Given the description of an element on the screen output the (x, y) to click on. 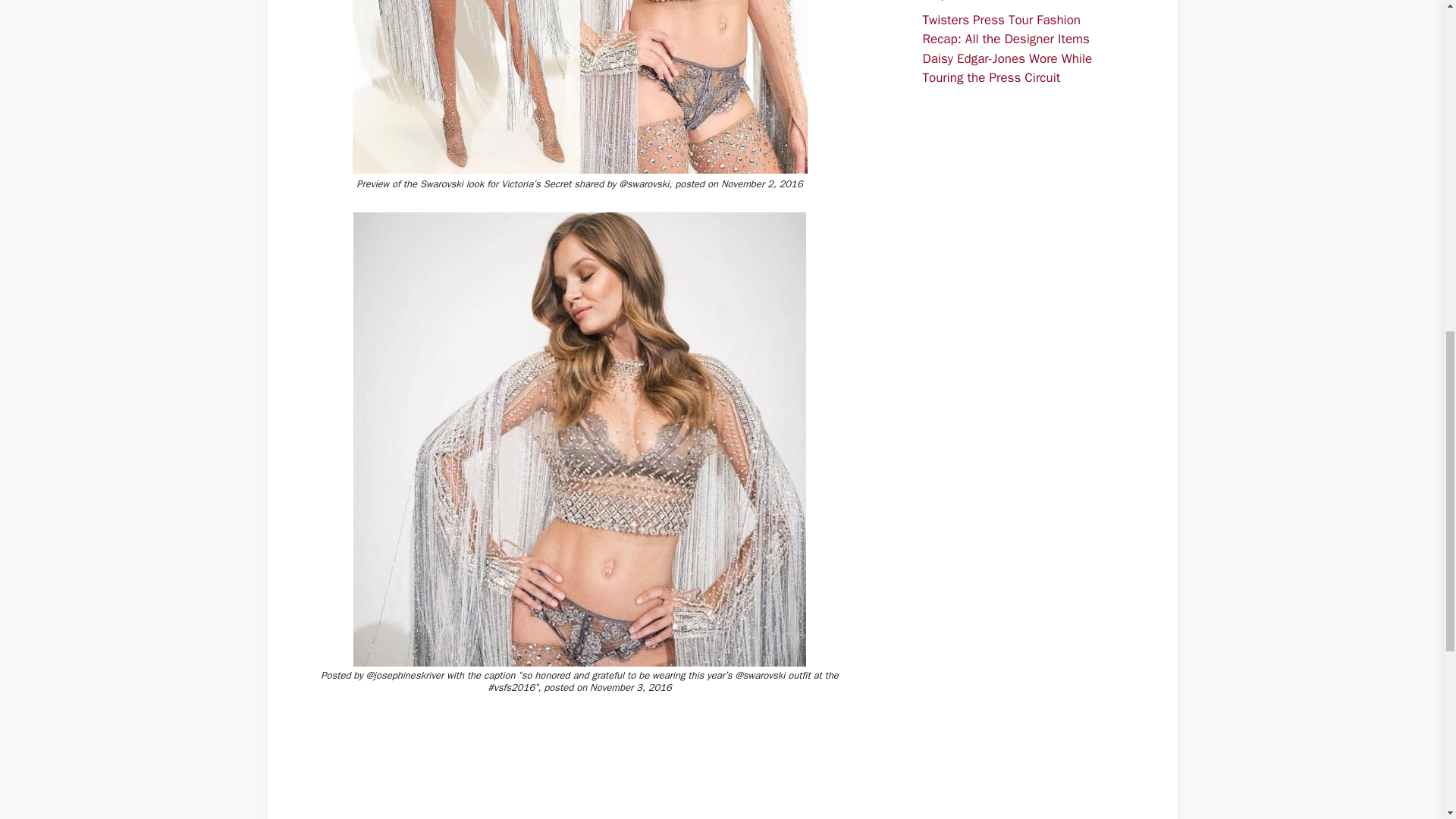
Scroll back to top (1406, 720)
